Given the description of an element on the screen output the (x, y) to click on. 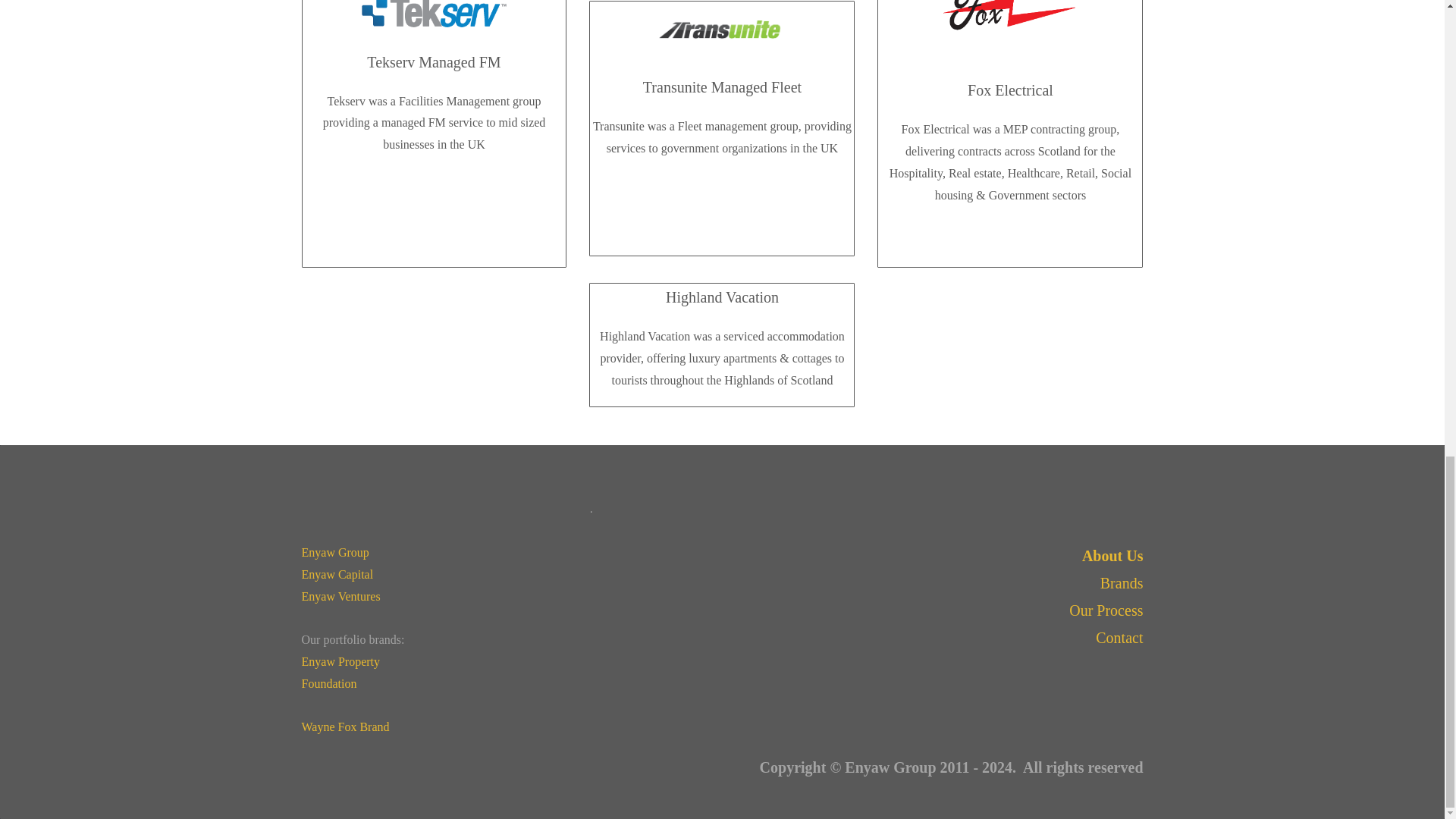
Our Process (1105, 610)
Wayne Fox Brand (345, 726)
Enyaw Capital (337, 574)
Enyaw Ventures (340, 595)
Enyaw Property (340, 661)
Enyaw Ventures (340, 595)
Foundation (328, 683)
Enyaw Capital (337, 574)
Brands (1121, 582)
Brands (1121, 582)
Our Process (1105, 610)
About Us (1111, 555)
Contact (1119, 637)
About Us (1111, 555)
Foundation (328, 683)
